Given the description of an element on the screen output the (x, y) to click on. 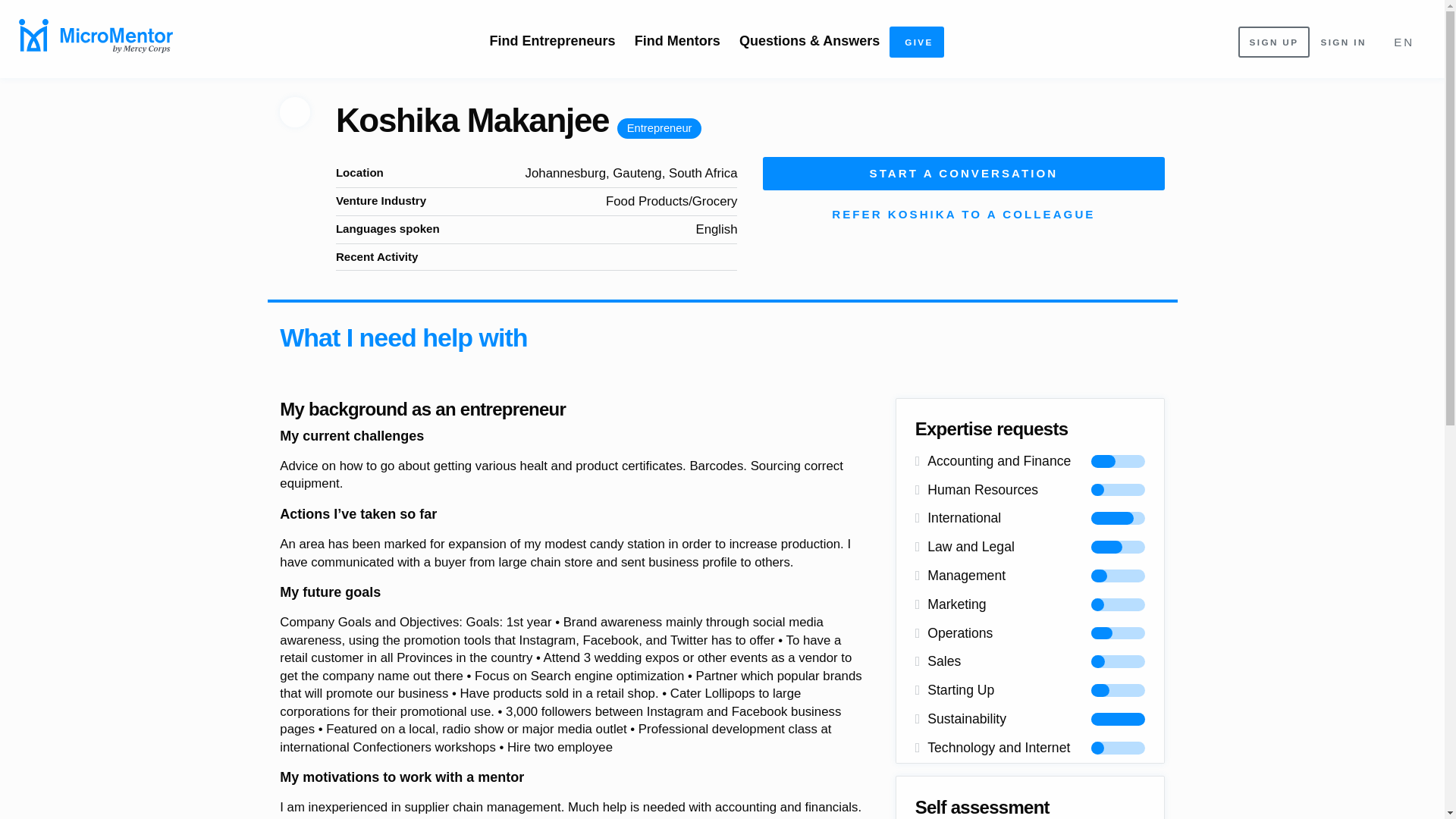
REFER KOSHIKA TO A COLLEAGUE (963, 213)
START A CONVERSATION (963, 173)
Find Entrepreneurs (552, 40)
International (1029, 518)
Human Resources (1029, 490)
Find Mentors (676, 40)
Law and Legal (1029, 547)
 GIVE (916, 41)
Accounting and Finance (1029, 461)
Entrepreneur (659, 127)
